Given the description of an element on the screen output the (x, y) to click on. 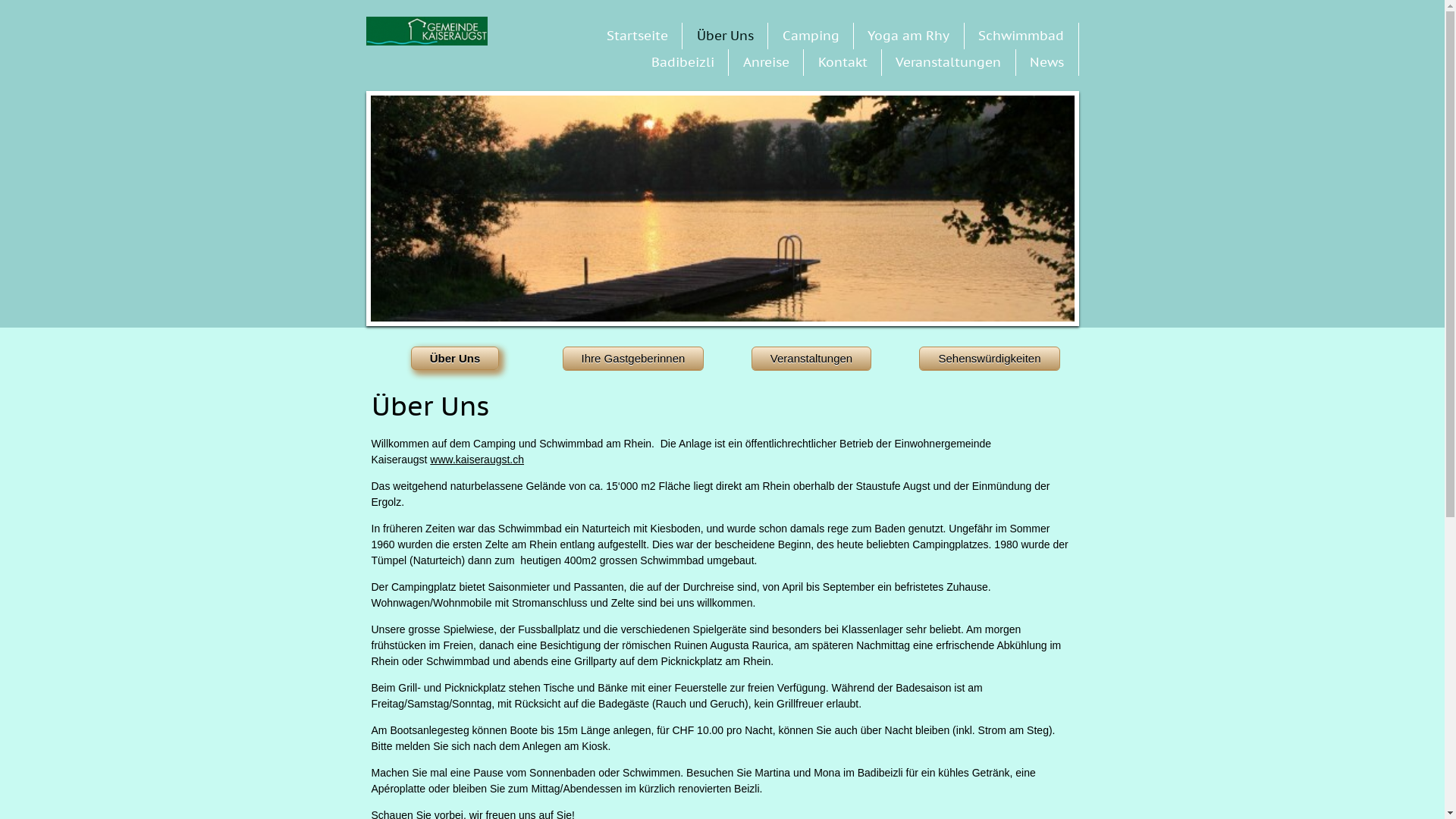
Anreise Element type: text (766, 62)
Veranstaltungen Element type: text (811, 358)
Yoga am Rhy Element type: text (908, 35)
News Element type: text (1046, 62)
Startseite Element type: text (637, 35)
Camping Element type: text (811, 35)
Veranstaltungen Element type: text (948, 62)
Badibeizli Element type: text (682, 62)
Schwimmbad Element type: text (1020, 35)
www.kaiseraugst.ch Element type: text (476, 459)
Kontakt Element type: text (842, 62)
Ihre Gastgeberinnen Element type: text (633, 358)
